Given the description of an element on the screen output the (x, y) to click on. 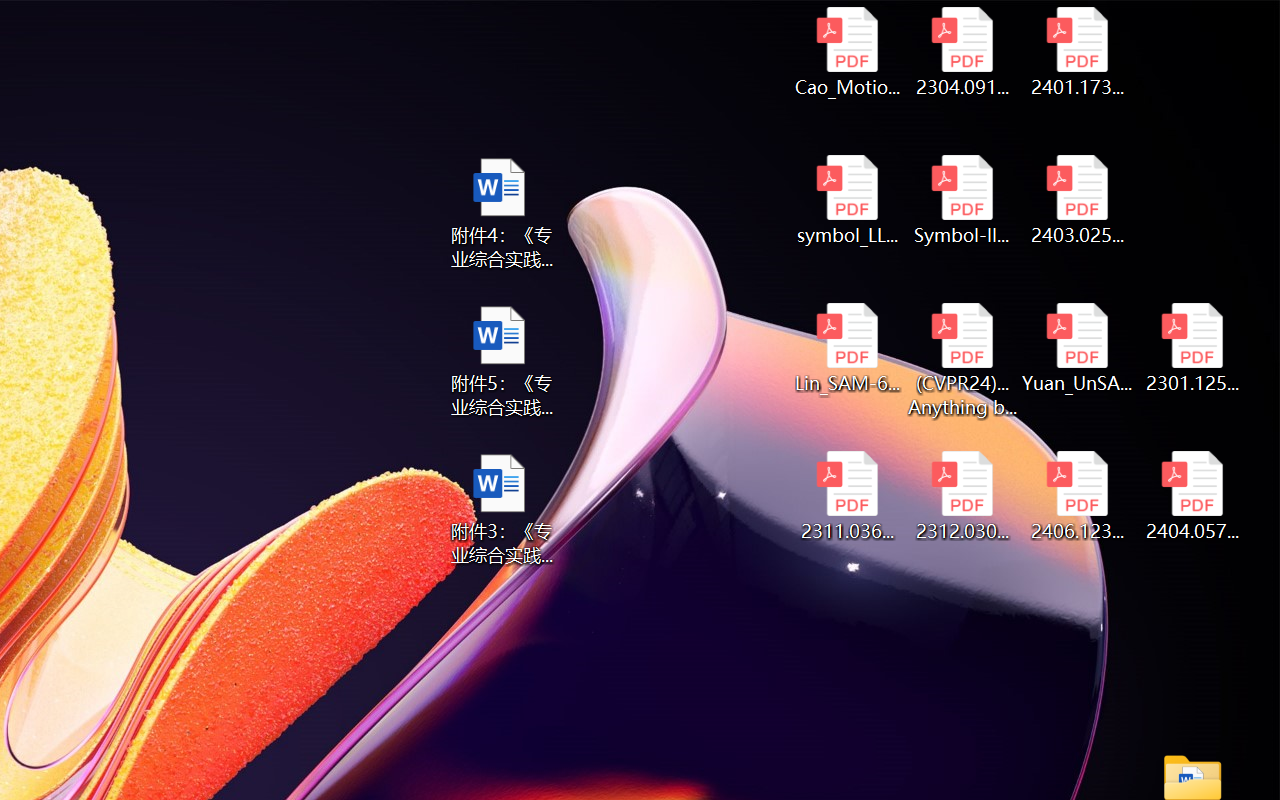
2404.05719v1.pdf (1192, 496)
2403.02502v1.pdf (1077, 200)
2304.09121v3.pdf (962, 52)
2401.17399v1.pdf (1077, 52)
Symbol-llm-v2.pdf (962, 200)
2312.03032v2.pdf (962, 496)
symbol_LLM.pdf (846, 200)
(CVPR24)Matching Anything by Segmenting Anything.pdf (962, 360)
2301.12597v3.pdf (1192, 348)
